Given the description of an element on the screen output the (x, y) to click on. 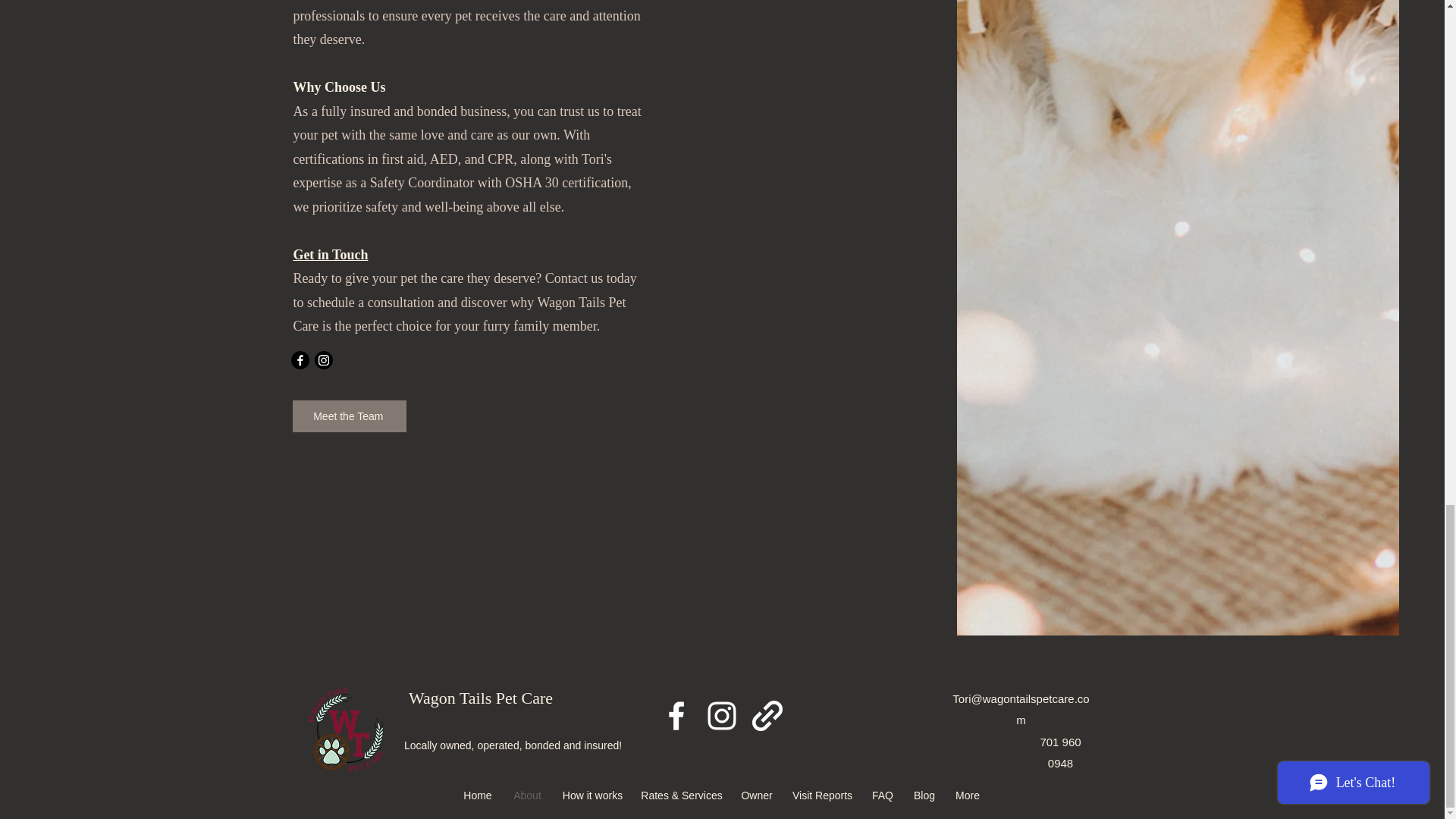
Visit Reports (822, 795)
FAQ (881, 795)
Owner (756, 795)
Get in Touch (330, 254)
Home (477, 795)
Blog (924, 795)
How it works (591, 795)
About (526, 795)
Meet the Team (349, 416)
